Given the description of an element on the screen output the (x, y) to click on. 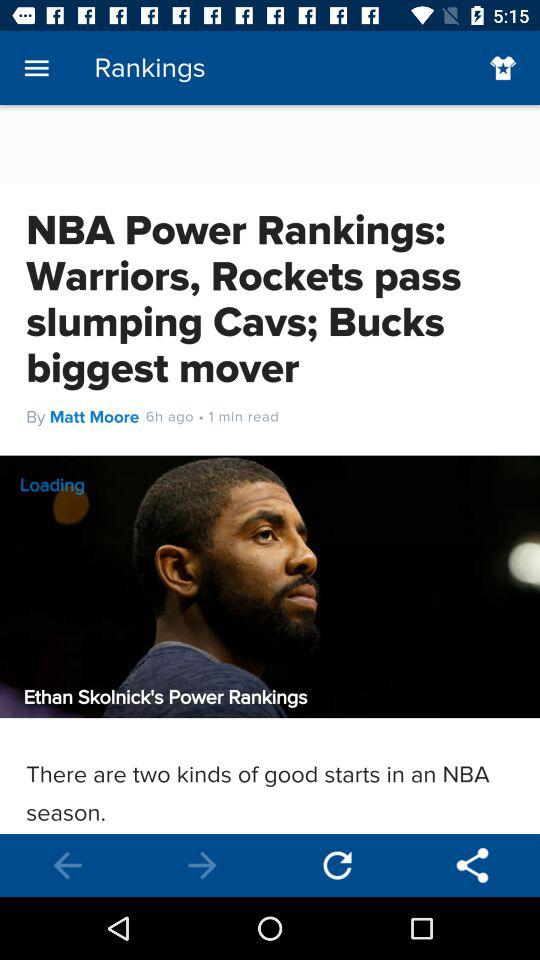
go to back (202, 865)
